Given the description of an element on the screen output the (x, y) to click on. 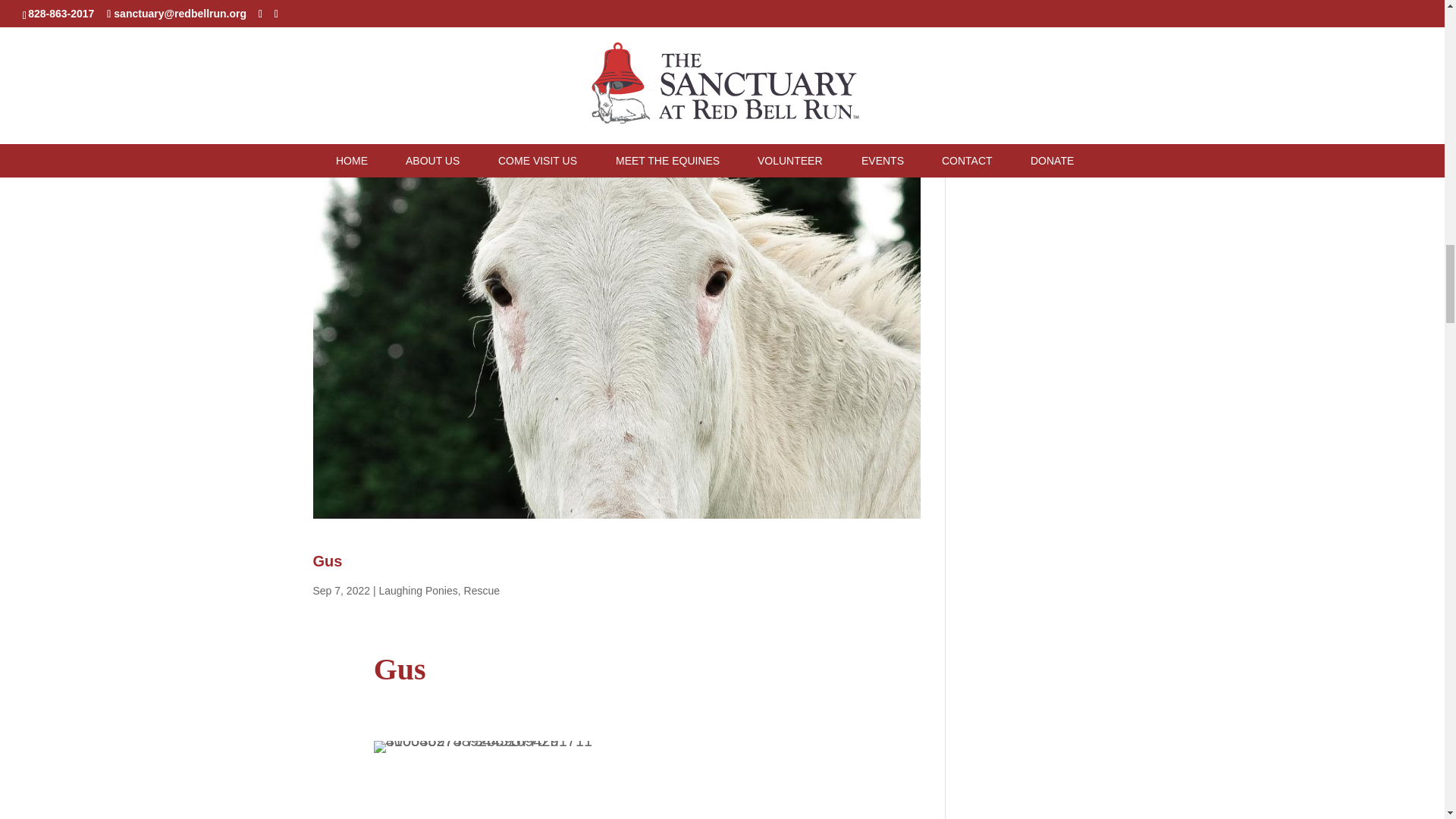
Rescue (481, 590)
300036275 734451694291711 4105459748926695770 n (492, 746)
Gus (327, 560)
Laughing Ponies (417, 590)
